Given the description of an element on the screen output the (x, y) to click on. 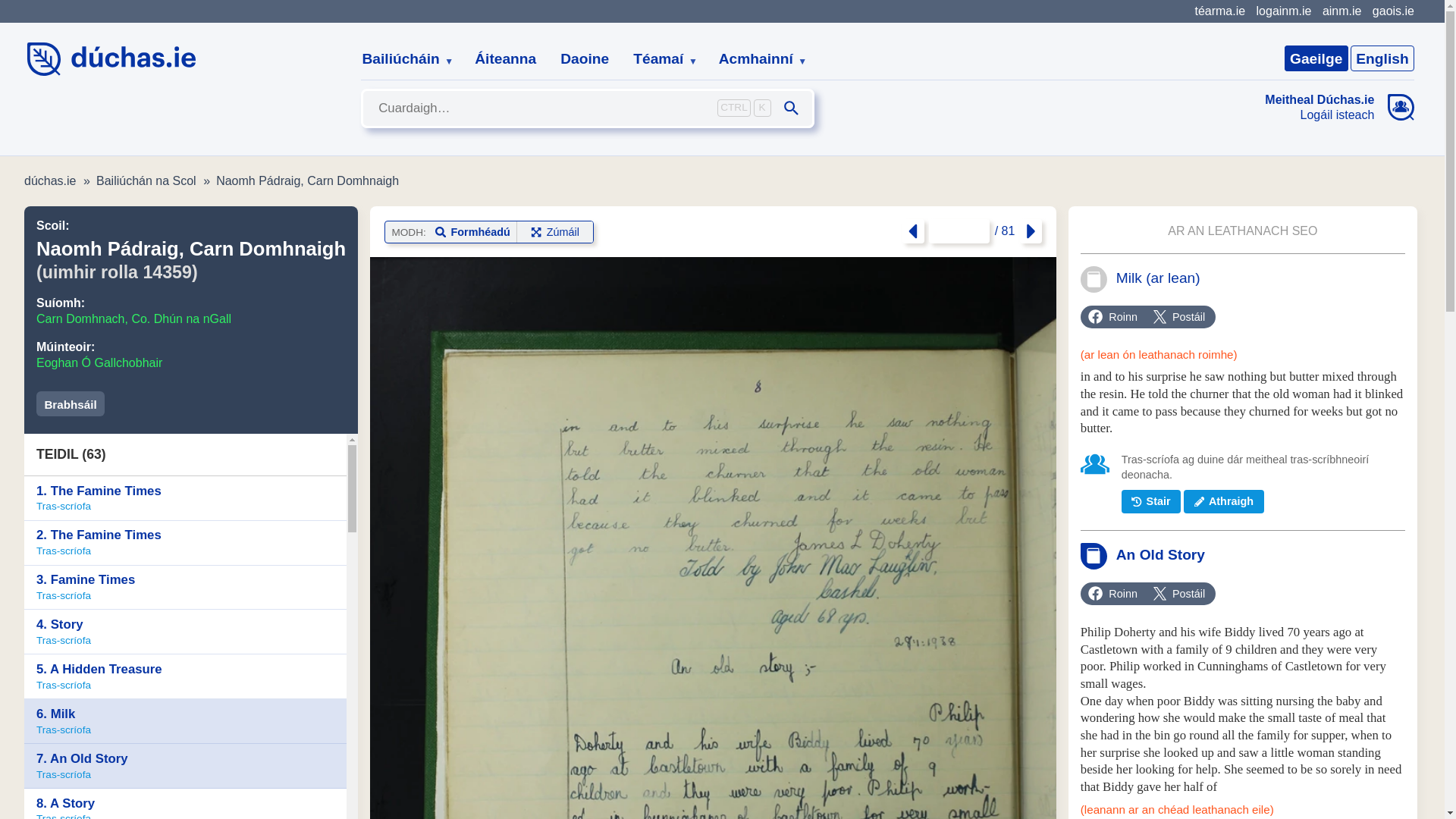
gaois.ie (1393, 11)
English (1382, 58)
Daoine (584, 58)
logainm.ie (1283, 11)
ainm.ie (1341, 11)
Gaeilge (1316, 58)
